Given the description of an element on the screen output the (x, y) to click on. 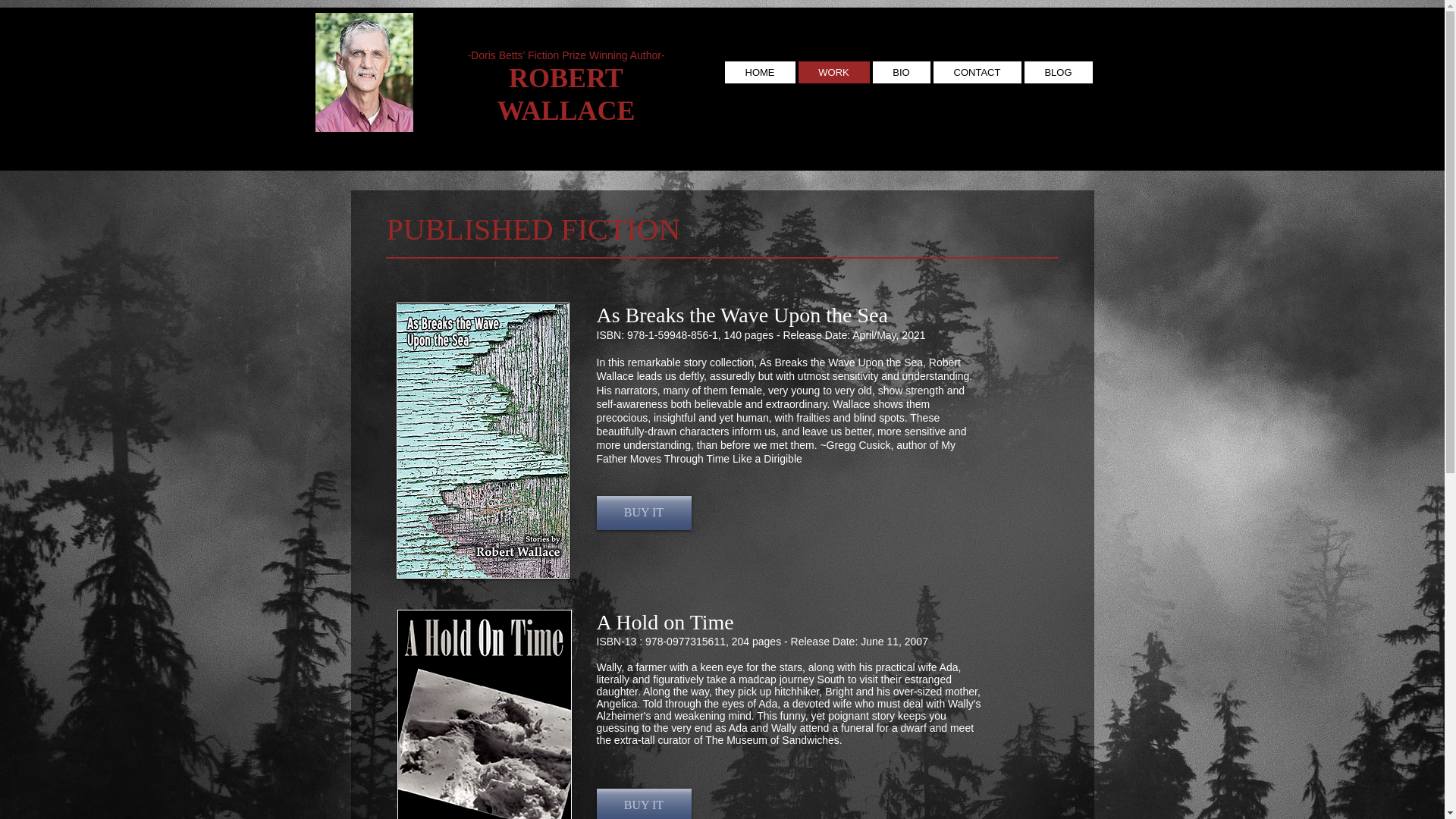
BIO (901, 72)
WORK (833, 72)
ROBERT WALLACE (565, 94)
BLOG (1057, 72)
BUY IT (642, 803)
HOME (759, 72)
CONTACT (976, 72)
BUY IT (642, 512)
